Given the description of an element on the screen output the (x, y) to click on. 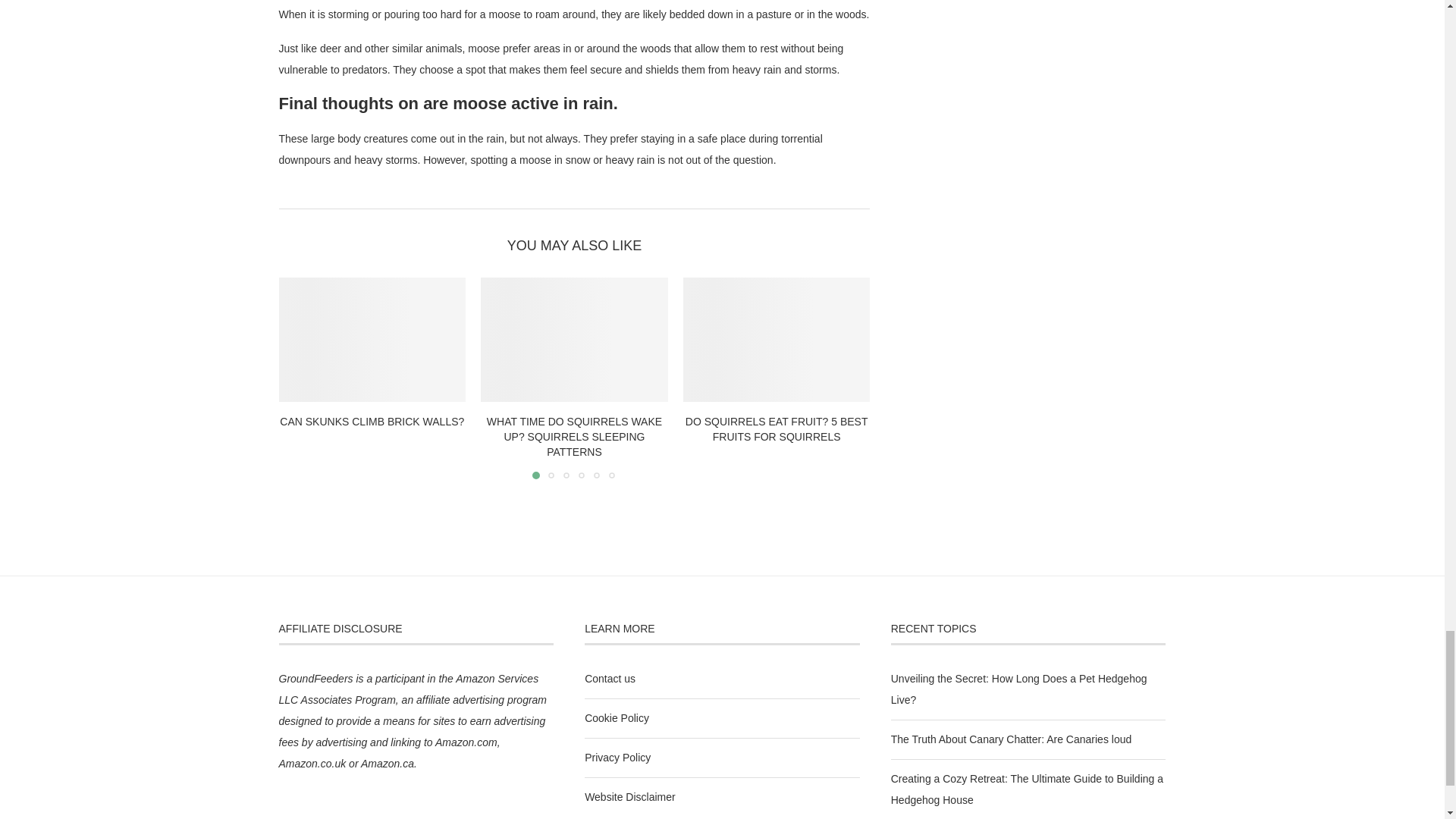
What time do squirrels wake up? Squirrels sleeping patterns (574, 339)
Can skunks climb brick walls? (372, 339)
CAN SKUNKS CLIMB BRICK WALLS? (371, 421)
DO SQUIRRELS EAT FRUIT? 5 BEST FRUITS FOR SQUIRRELS (776, 429)
WHAT TIME DO SQUIRRELS WAKE UP? SQUIRRELS SLEEPING PATTERNS (574, 436)
